Given the description of an element on the screen output the (x, y) to click on. 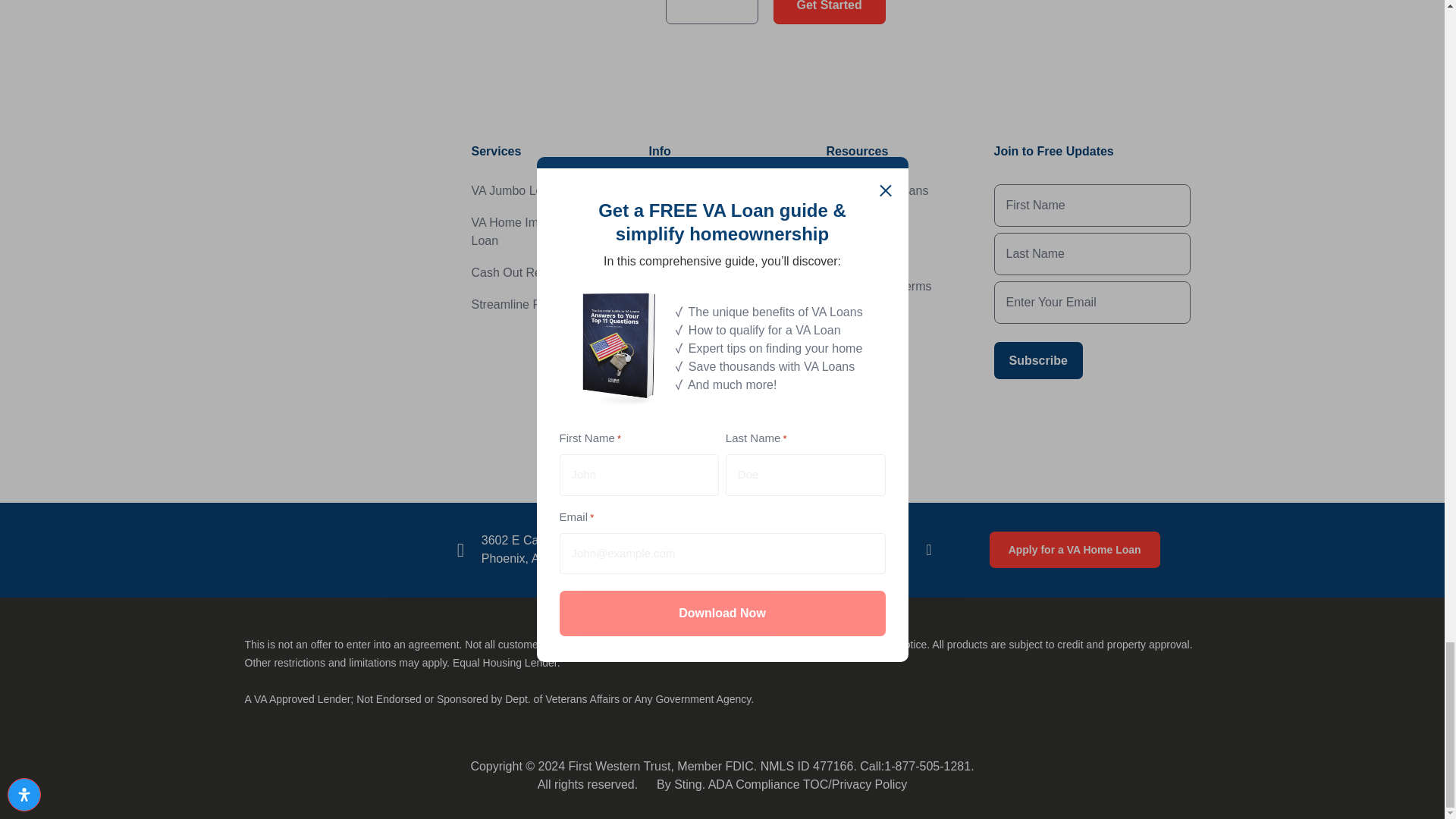
Subscribe (1036, 361)
FWT Logo (309, 548)
image 64 (331, 237)
Twitter (837, 549)
Group 125 (1069, 7)
